Given the description of an element on the screen output the (x, y) to click on. 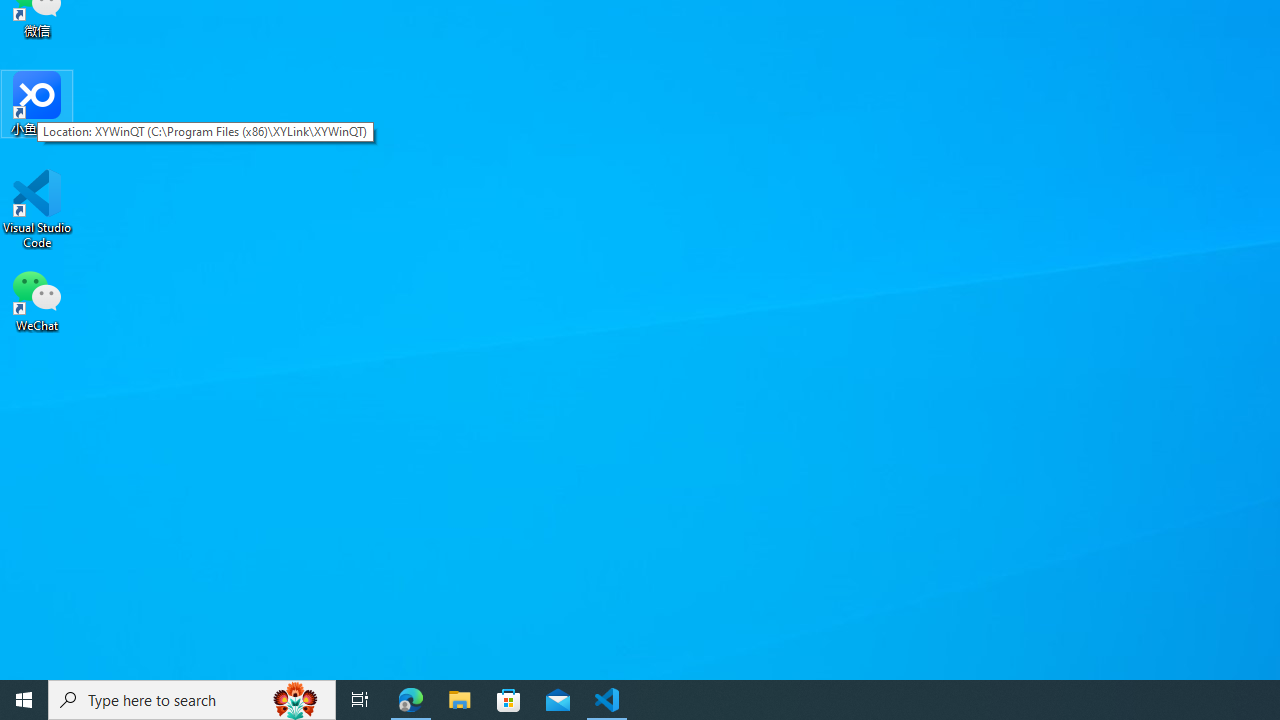
Visual Studio Code (37, 209)
WeChat (37, 299)
File Explorer (460, 699)
Type here to search (191, 699)
Microsoft Store (509, 699)
Start (24, 699)
Visual Studio Code - 1 running window (607, 699)
Task View (359, 699)
Microsoft Edge - 1 running window (411, 699)
Search highlights icon opens search home window (295, 699)
